Given the description of an element on the screen output the (x, y) to click on. 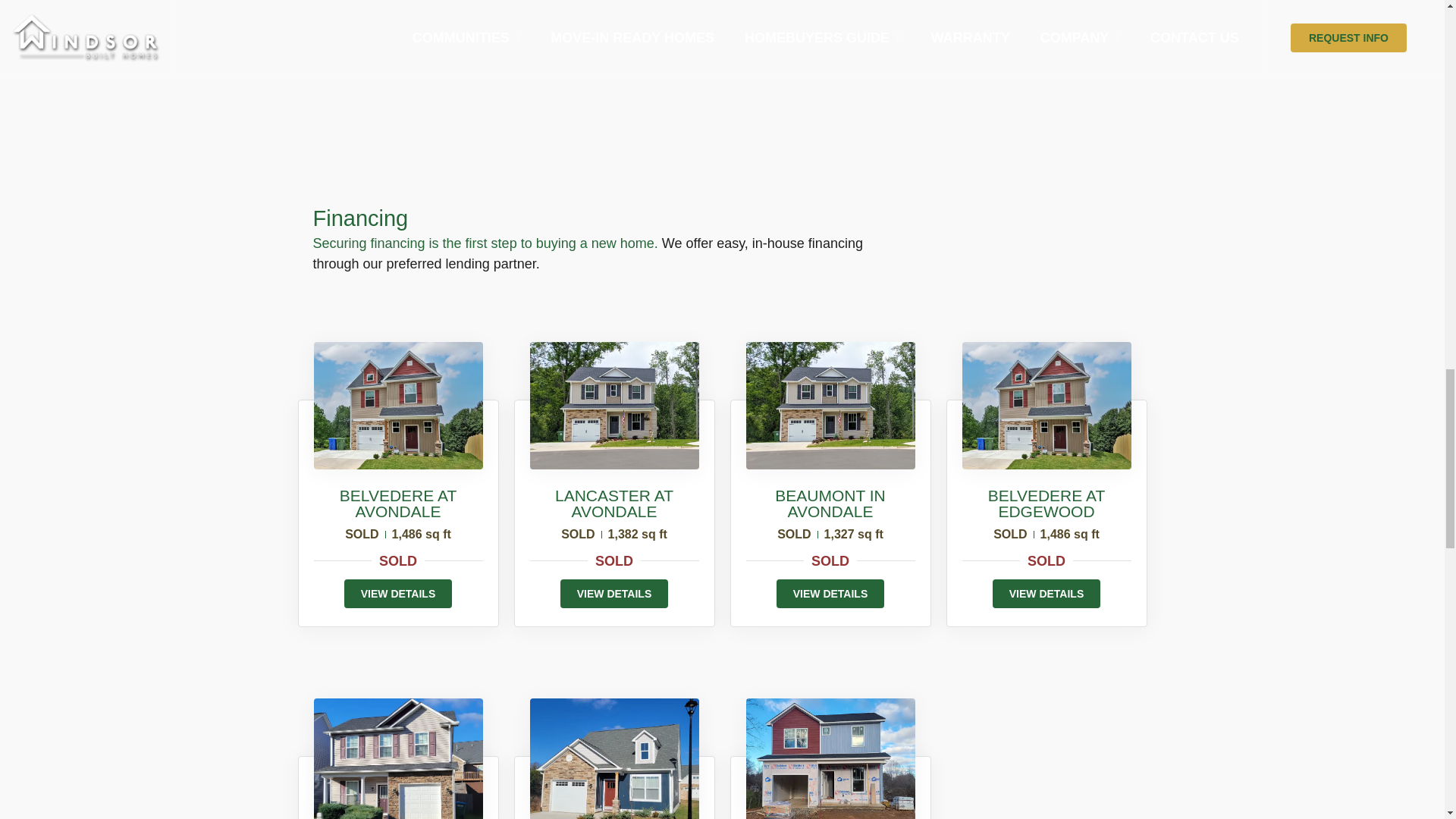
35.550371, -82.489408 (588, 92)
